Given the description of an element on the screen output the (x, y) to click on. 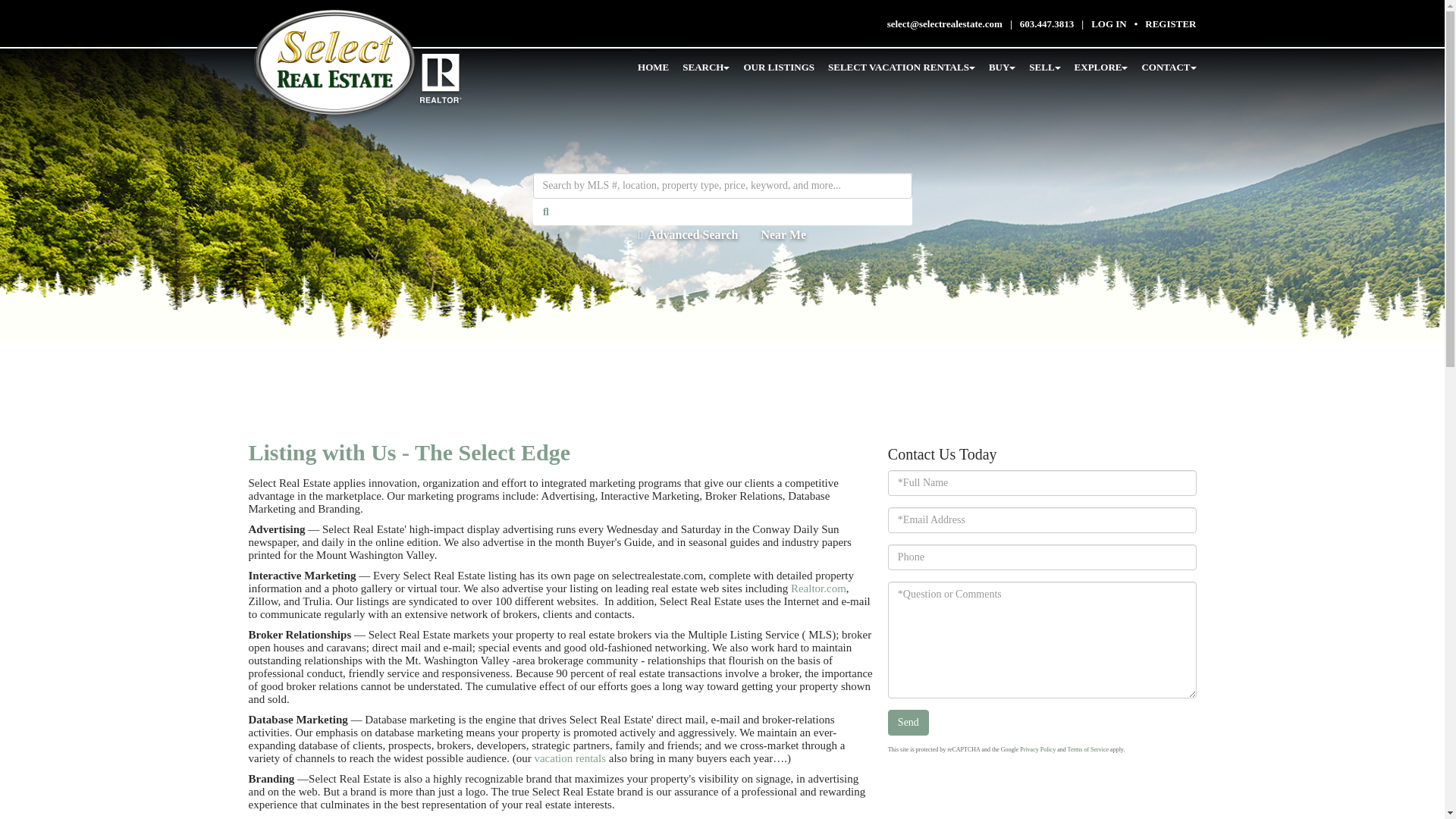
HOME (652, 67)
603.447.3813 (1047, 23)
OUR LISTINGS (777, 67)
SELECT VACATION RENTALS (901, 67)
LOG IN (1108, 23)
SEARCH (705, 67)
BUY (1001, 67)
REGISTER (1169, 23)
SELL (1044, 67)
